Given the description of an element on the screen output the (x, y) to click on. 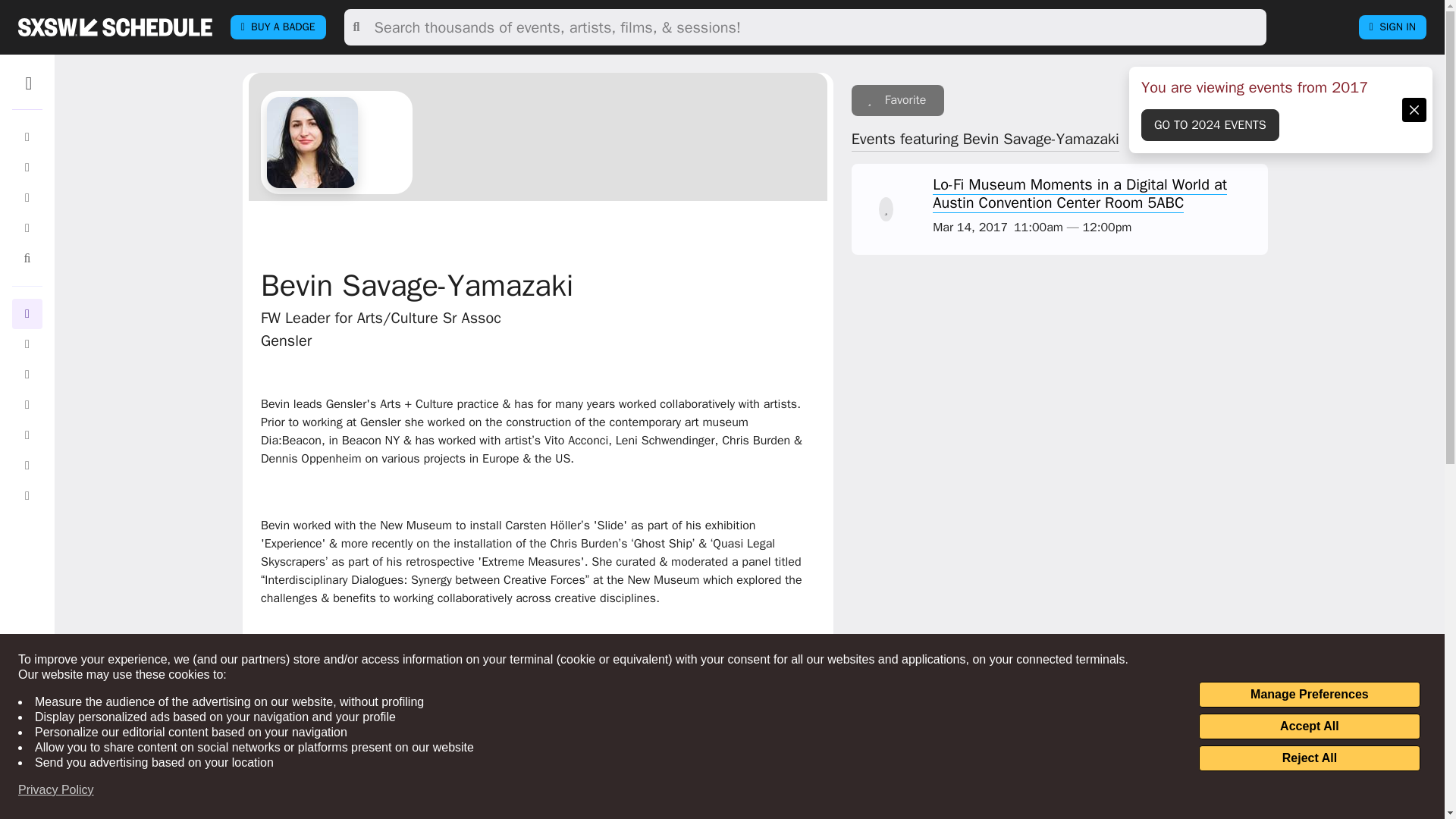
Privacy Policy (55, 789)
Manage Preferences (1309, 694)
BUY A BADGE (278, 27)
SIGN IN (1392, 27)
GO TO 2024 EVENTS (1210, 124)
sxsw SCHEDULE (114, 27)
Accept All (1309, 726)
Reject All (1309, 758)
Sign In to add to your favorites. (897, 100)
